Given the description of an element on the screen output the (x, y) to click on. 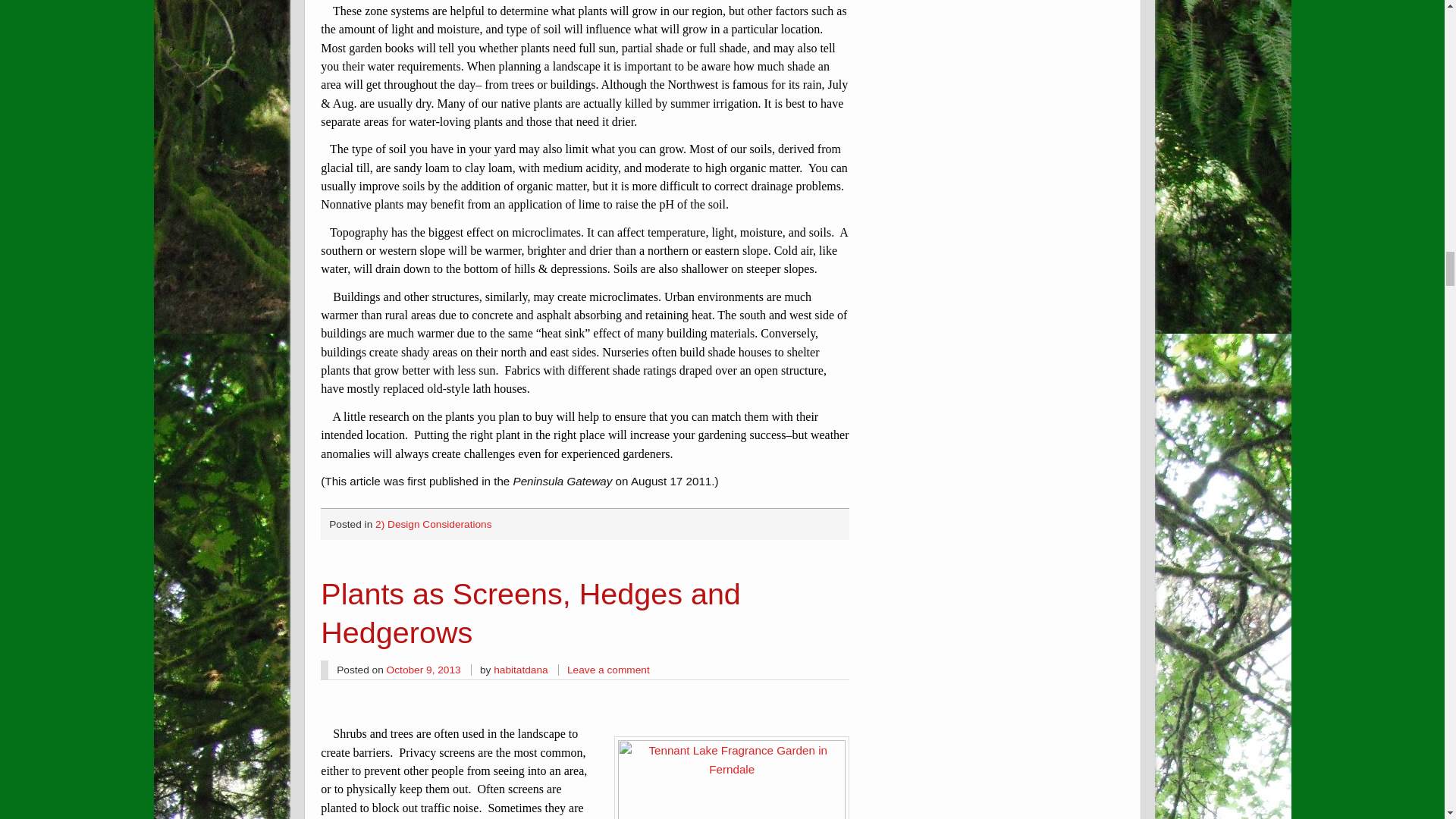
1:23 PM (424, 669)
View all posts by habitatdana (520, 669)
